Given the description of an element on the screen output the (x, y) to click on. 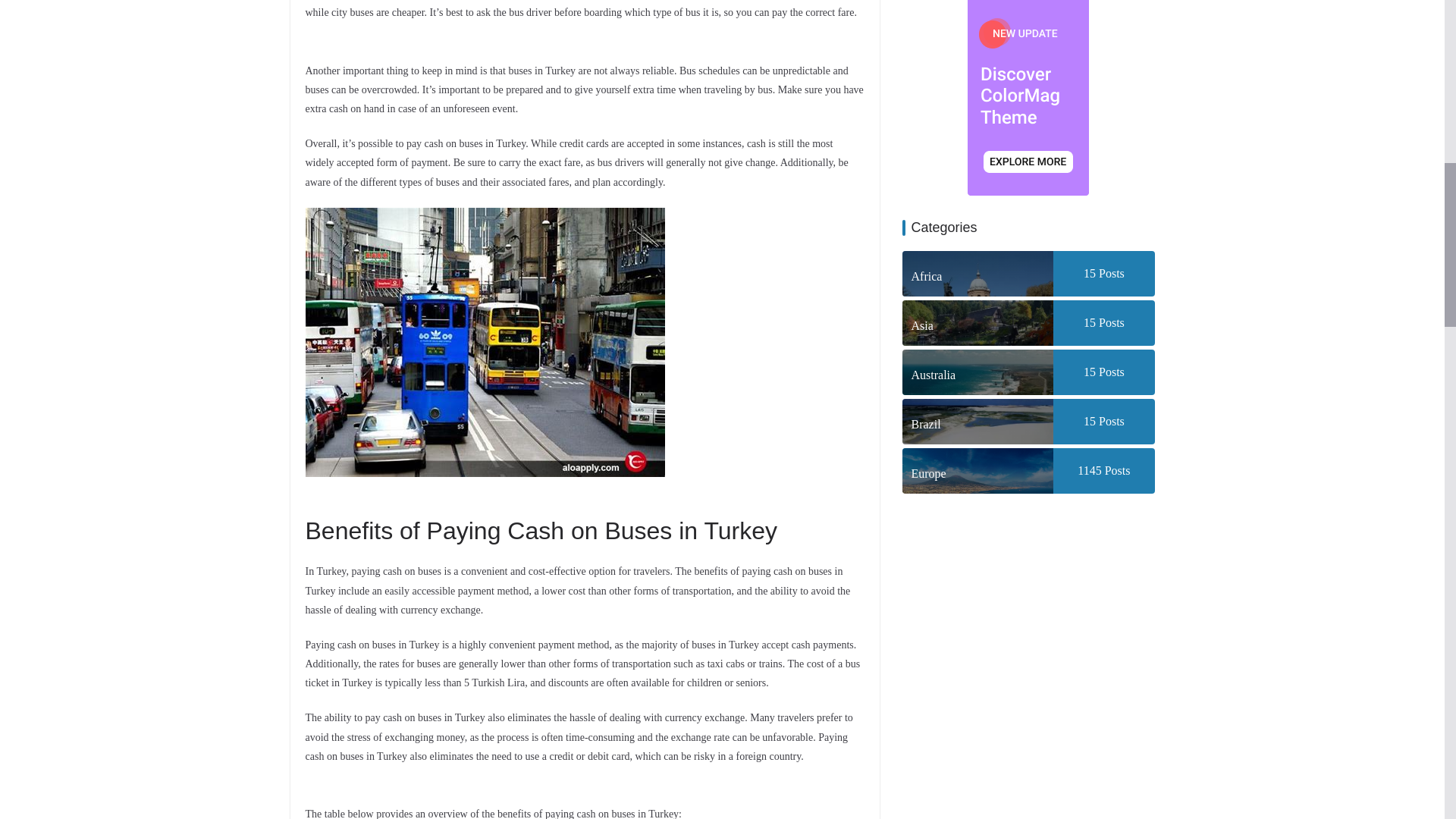
Can I pay cash on buses in Turkey? (483, 342)
